Given the description of an element on the screen output the (x, y) to click on. 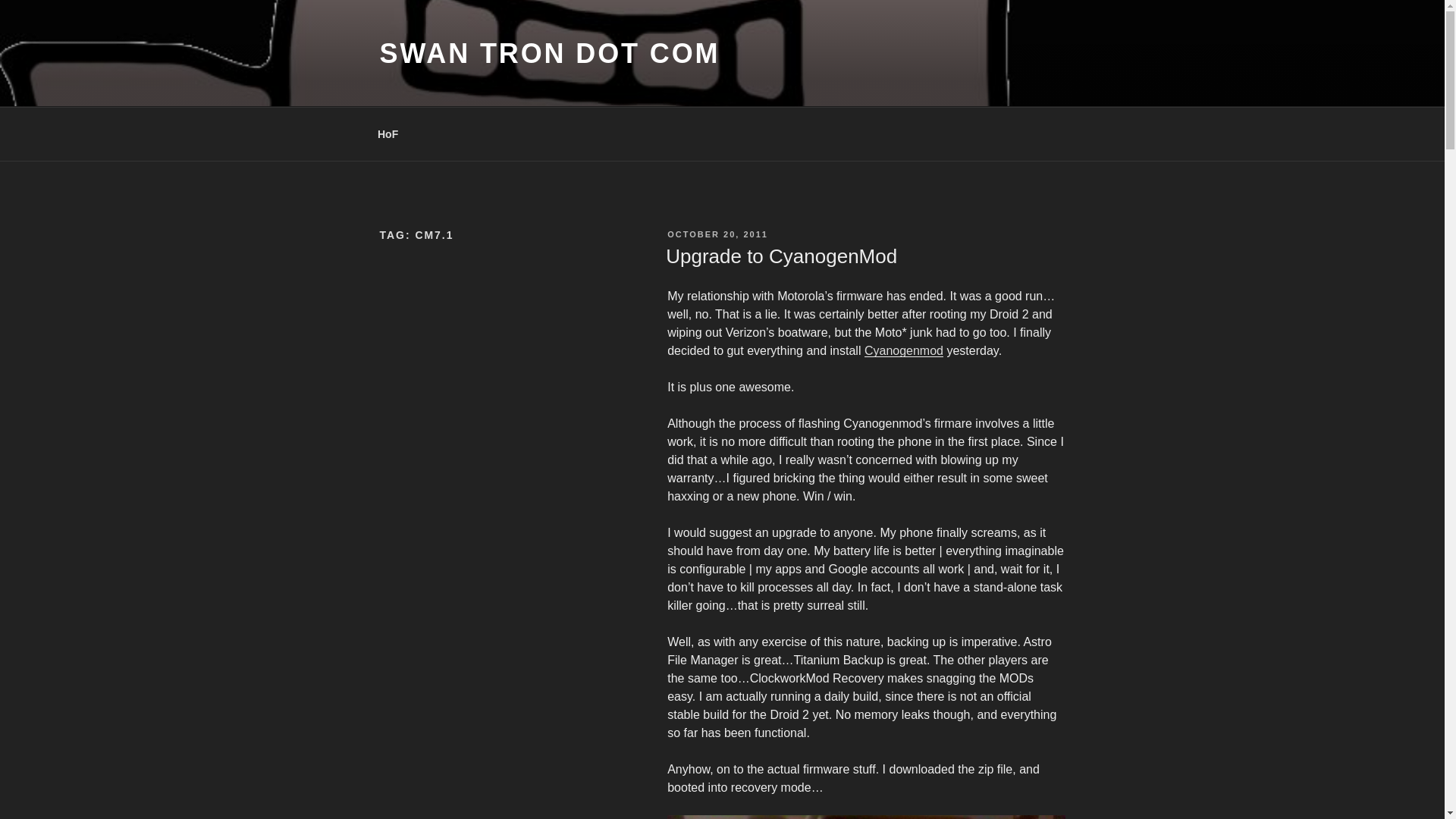
OCTOBER 20, 2011 (717, 234)
Cyanogenmod (903, 350)
HoF (387, 133)
SWAN TRON DOT COM (548, 52)
Upgrade to CyanogenMod (780, 255)
